Given the description of an element on the screen output the (x, y) to click on. 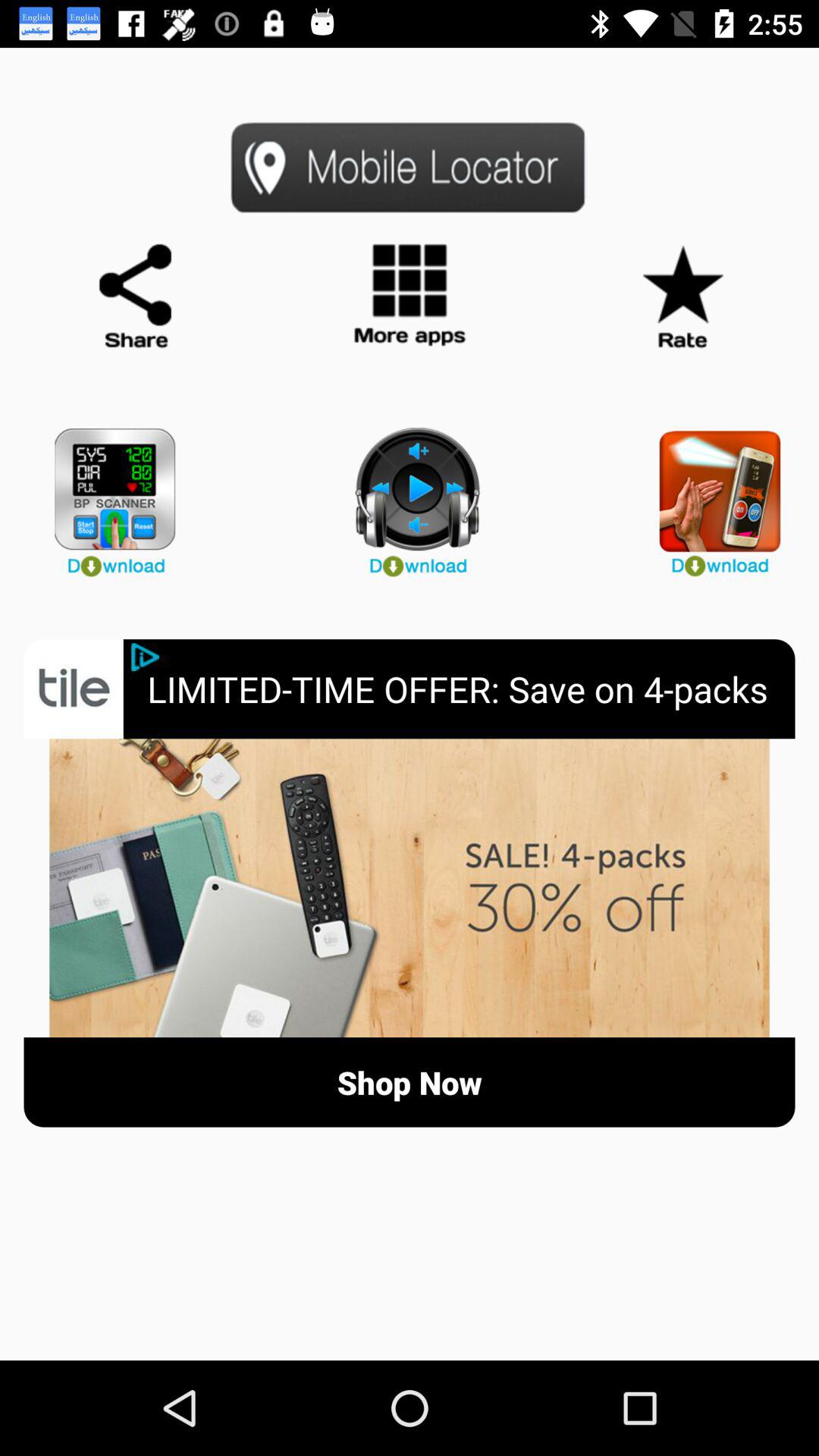
open sale information (409, 887)
